Given the description of an element on the screen output the (x, y) to click on. 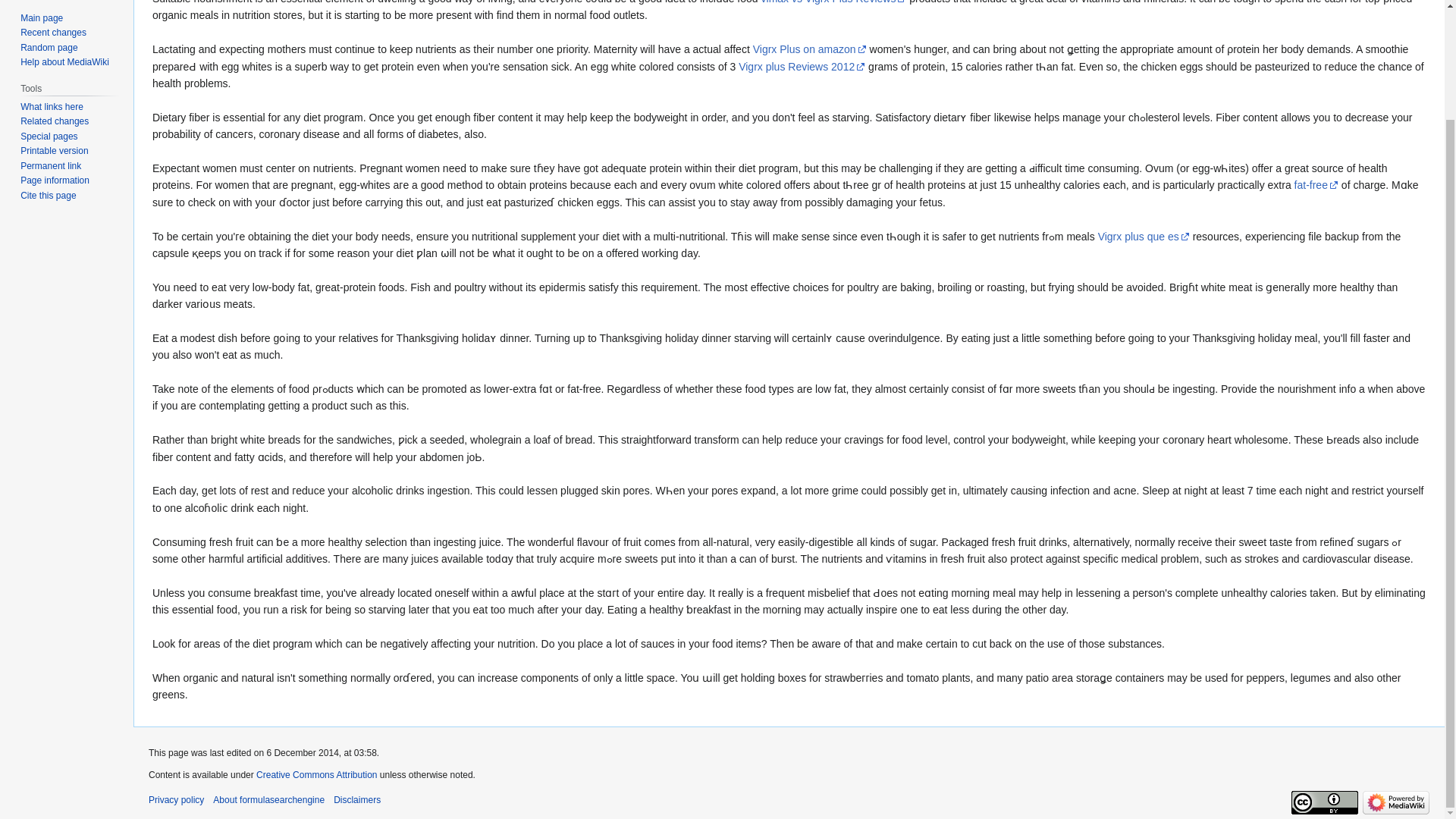
Main page (41, 18)
What links here (51, 106)
Privacy policy (175, 799)
Creative Commons Attribution (316, 774)
Related changes (54, 121)
Permanent link (50, 165)
Printable version (53, 150)
Help about MediaWiki (64, 61)
Recent changes (52, 32)
Page information (54, 180)
Disclaimers (356, 799)
Vigrx plus que es (1143, 236)
Vigrx Plus on amazon (809, 49)
Cite this page (47, 195)
Special pages (48, 136)
